Given the description of an element on the screen output the (x, y) to click on. 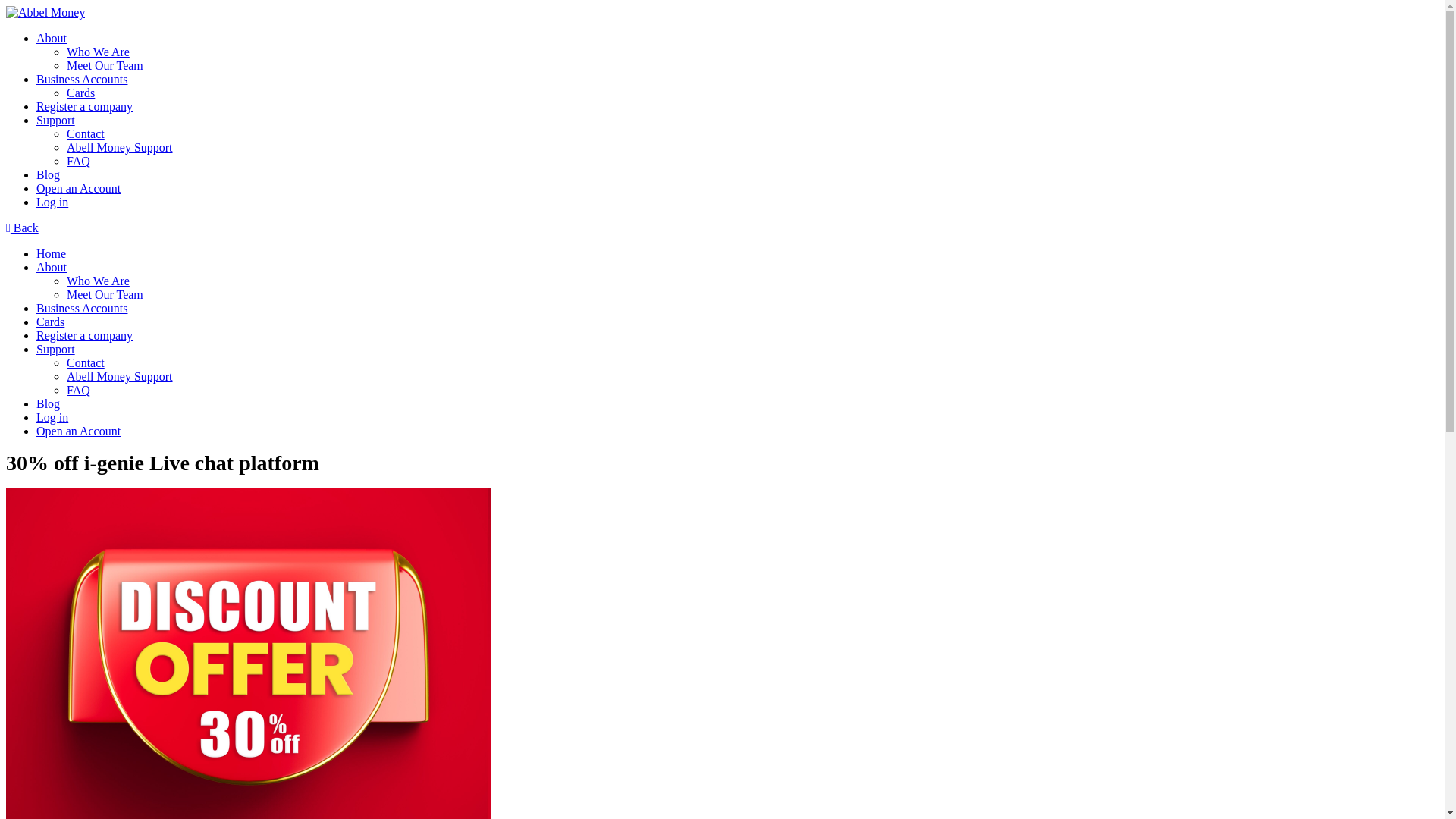
Cards (50, 321)
Contact (85, 133)
Register a company (84, 335)
Blog (47, 403)
FAQ (78, 160)
Support (55, 119)
Abell Money Support (119, 376)
Support (55, 349)
Meet Our Team (104, 294)
About (51, 38)
FAQ (78, 390)
Who We Are (97, 51)
Abell Money Support (119, 146)
Register a company (84, 106)
Cards (80, 92)
